Given the description of an element on the screen output the (x, y) to click on. 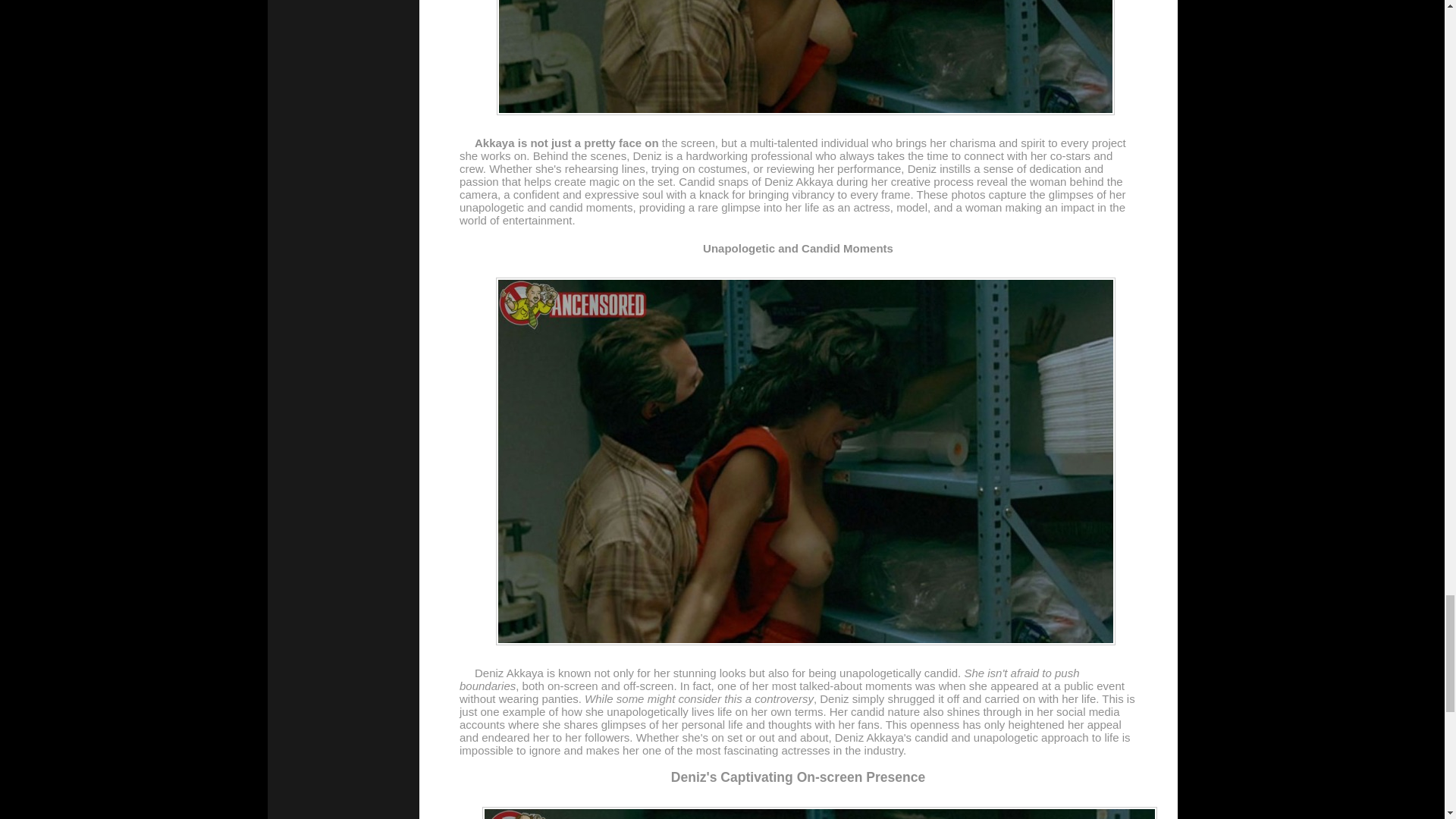
Deniz Akkaya ass (805, 57)
Deniz Akkaya boobs 13 (819, 812)
